Given the description of an element on the screen output the (x, y) to click on. 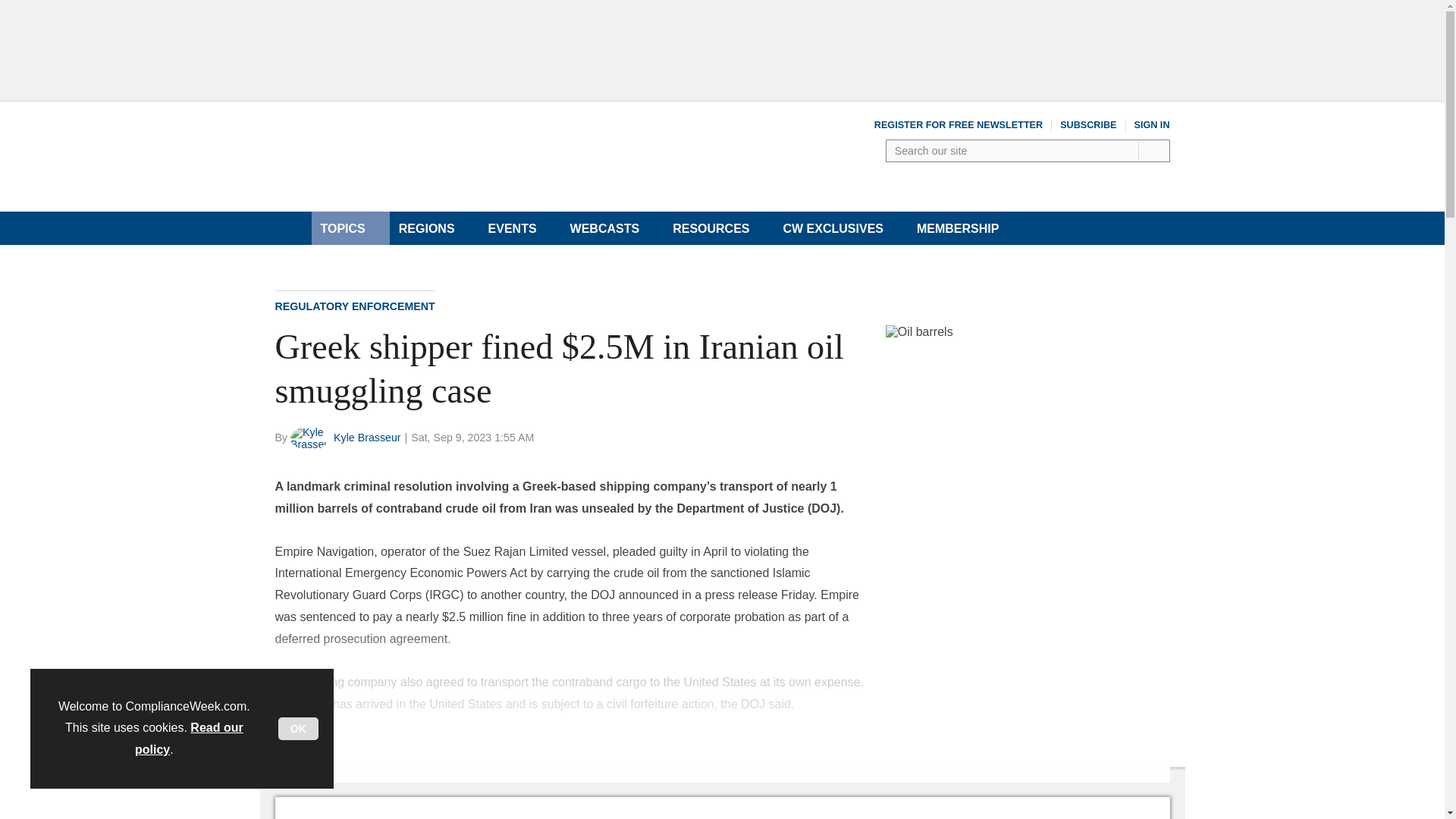
Read our policy (189, 738)
Compliance Week (433, 174)
SIGN IN (1152, 124)
REGISTER FOR FREE NEWSLETTER (958, 124)
OK (298, 728)
SEARCH (1155, 150)
SUBSCRIBE (1087, 124)
